Given the description of an element on the screen output the (x, y) to click on. 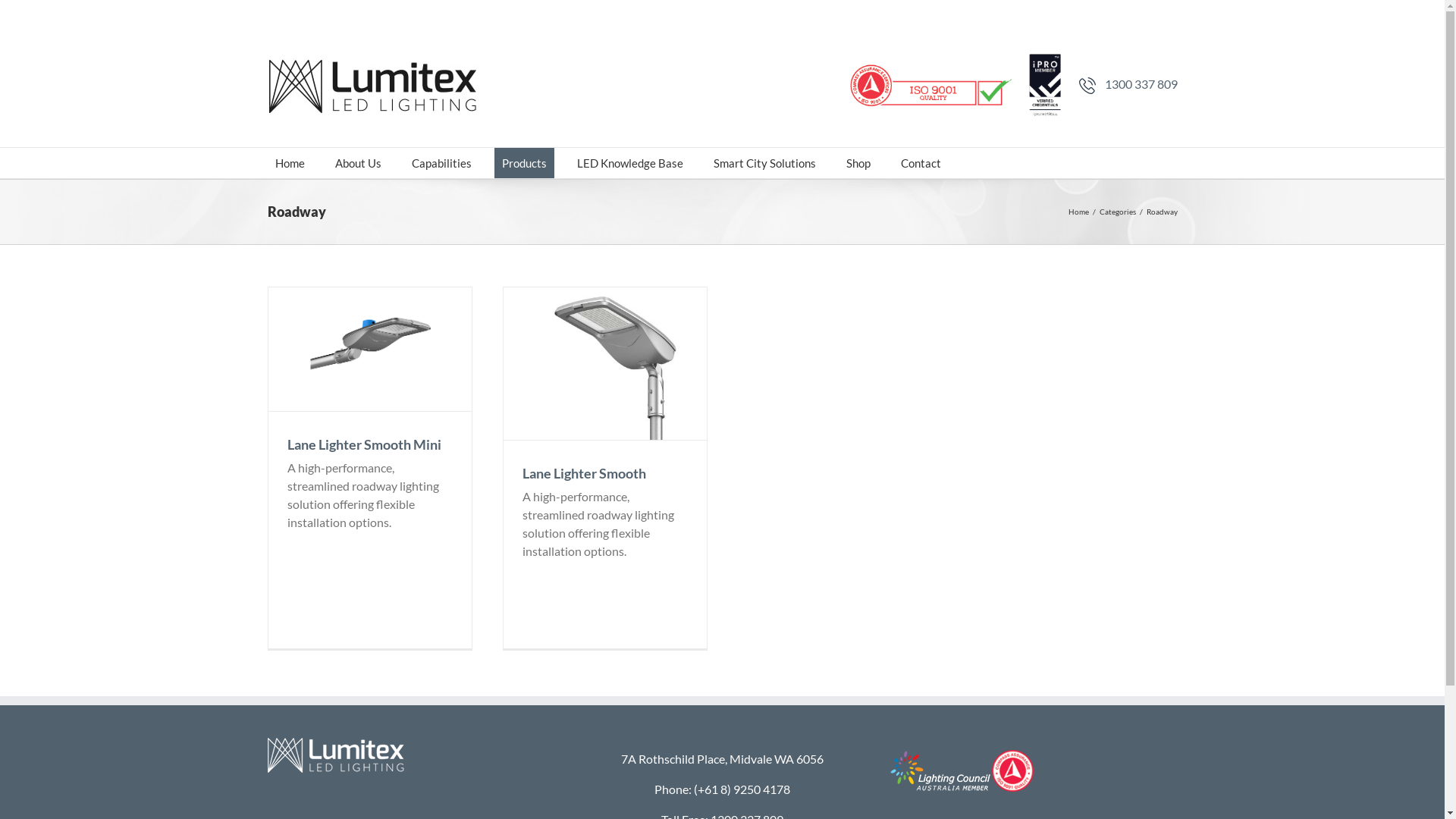
Smart City Solutions Element type: text (763, 162)
LED Knowledge Base Element type: text (629, 162)
Lane Lighter Smooth Mini Element type: text (363, 444)
Categories Element type: text (1117, 211)
About Us Element type: text (358, 162)
Capabilities Element type: text (440, 162)
1300 337 809 Element type: text (1140, 83)
Home Element type: text (1077, 211)
Home Element type: text (288, 162)
Shop Element type: text (858, 162)
Products Element type: text (524, 162)
Contact Element type: text (920, 162)
Lane Lighter Smooth Element type: text (583, 472)
